Given the description of an element on the screen output the (x, y) to click on. 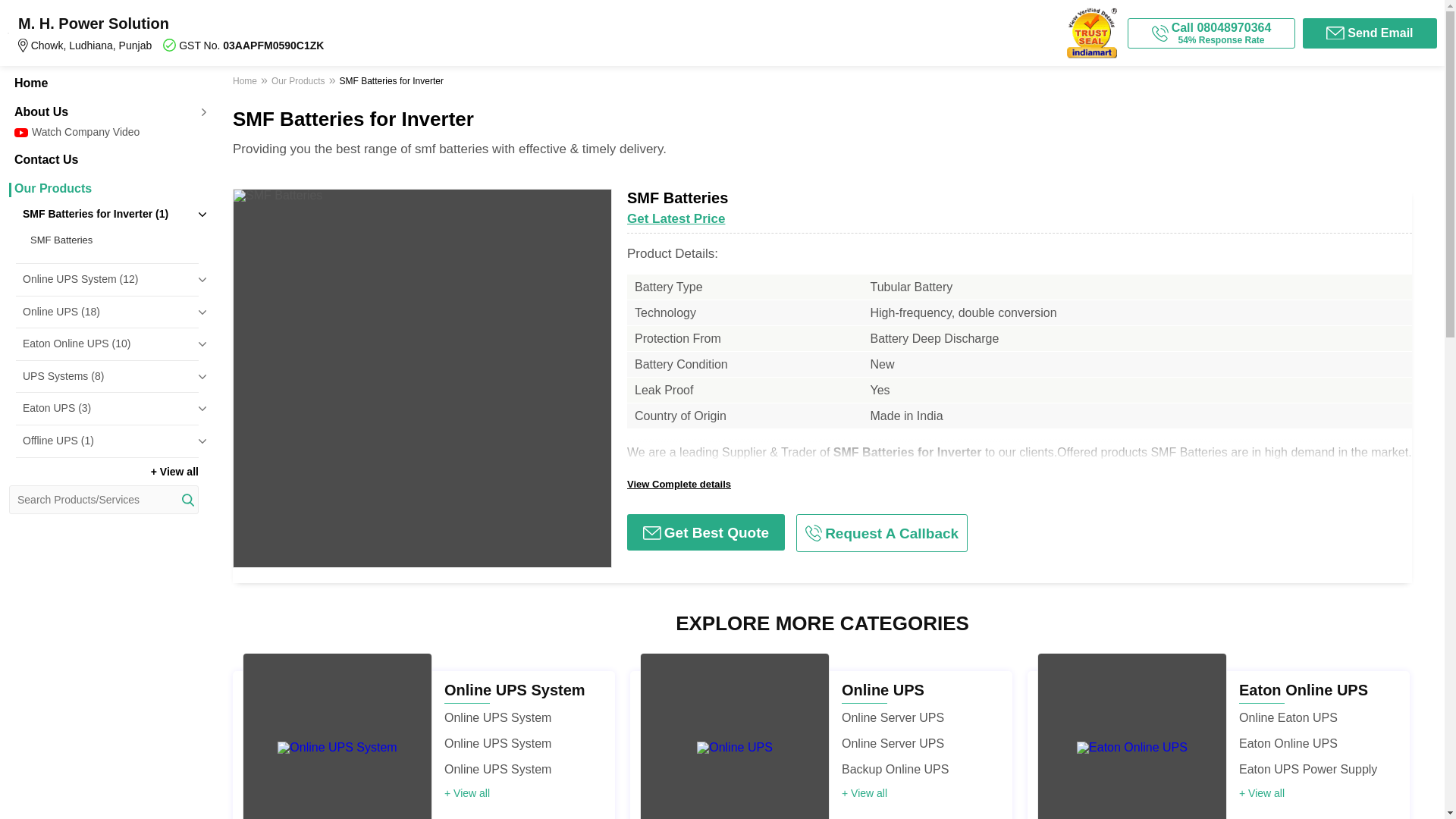
Contact Us (103, 159)
About Us (103, 111)
SMF Batteries (110, 240)
Our Products (103, 188)
Home (103, 82)
